Given the description of an element on the screen output the (x, y) to click on. 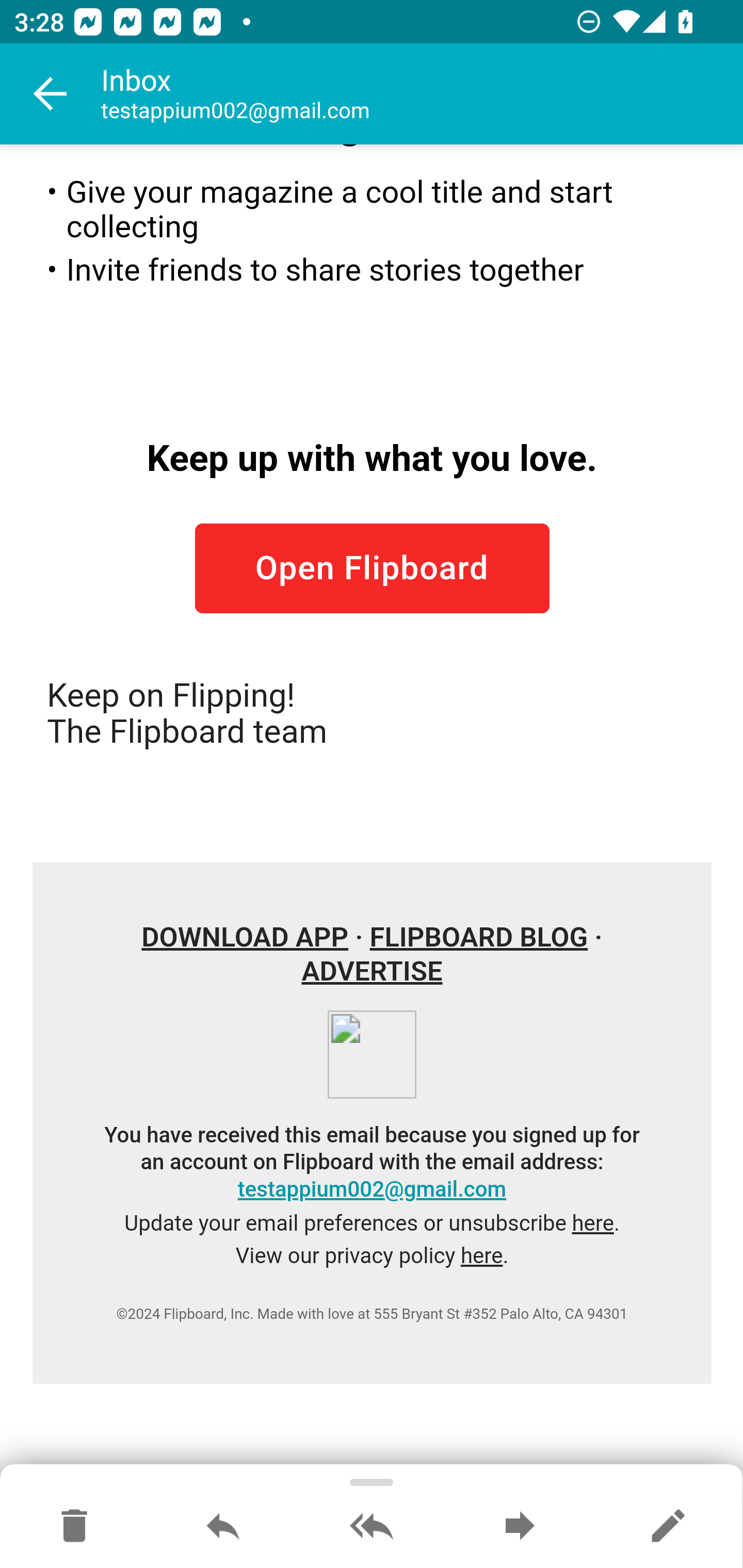
Navigate up (50, 93)
Inbox testappium002@gmail.com (422, 93)
DOWNLOAD APP (245, 937)
FLIPBOARD BLOG (478, 937)
ADVERTISE (371, 972)
testappium002@gmail.com (371, 1190)
here (591, 1224)
here (480, 1257)
Move to Deleted (74, 1527)
Reply (222, 1527)
Reply all (371, 1527)
Forward (519, 1527)
Reply as new (667, 1527)
